Given the description of an element on the screen output the (x, y) to click on. 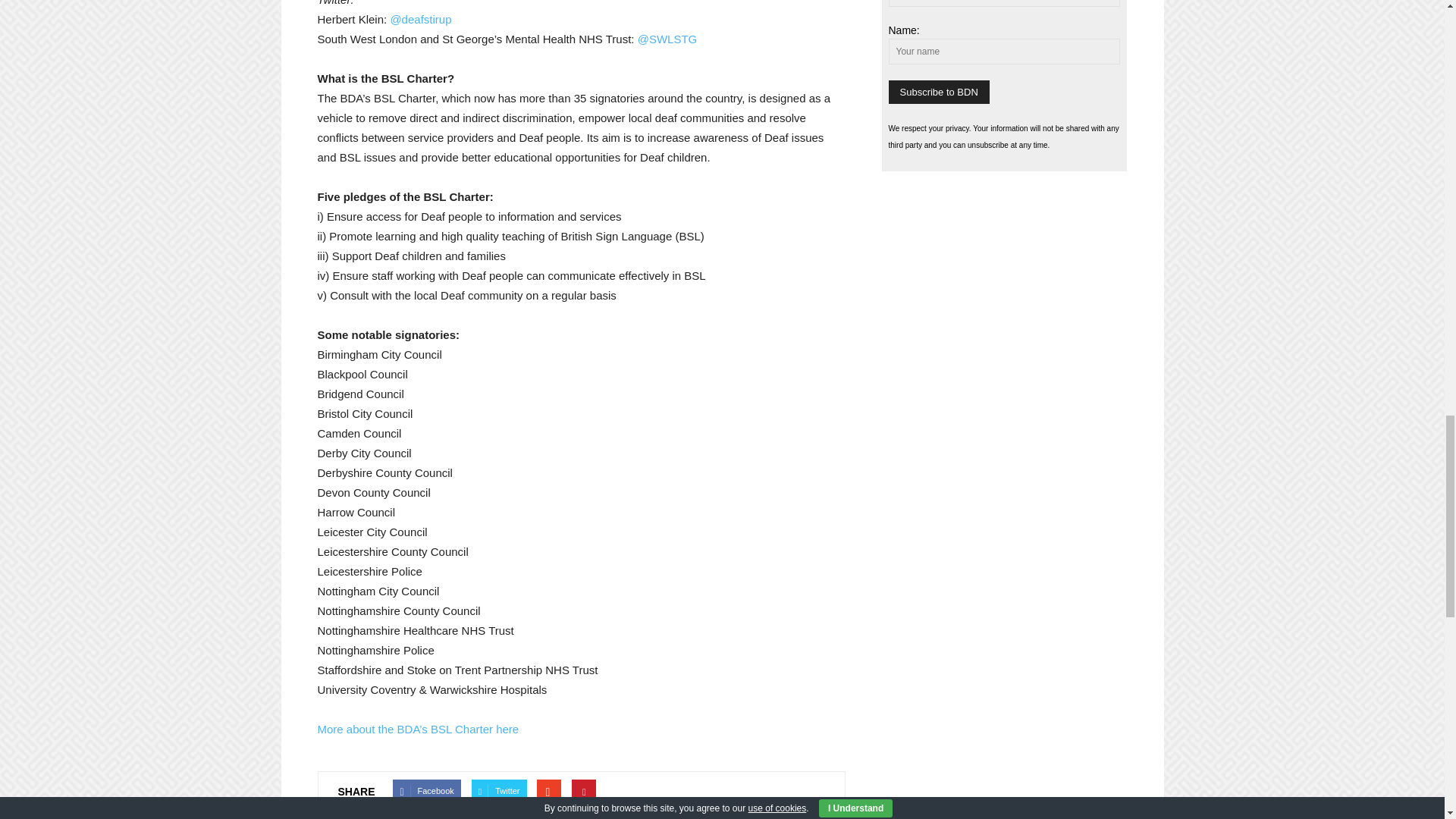
Subscribe to BDN (939, 92)
